Given the description of an element on the screen output the (x, y) to click on. 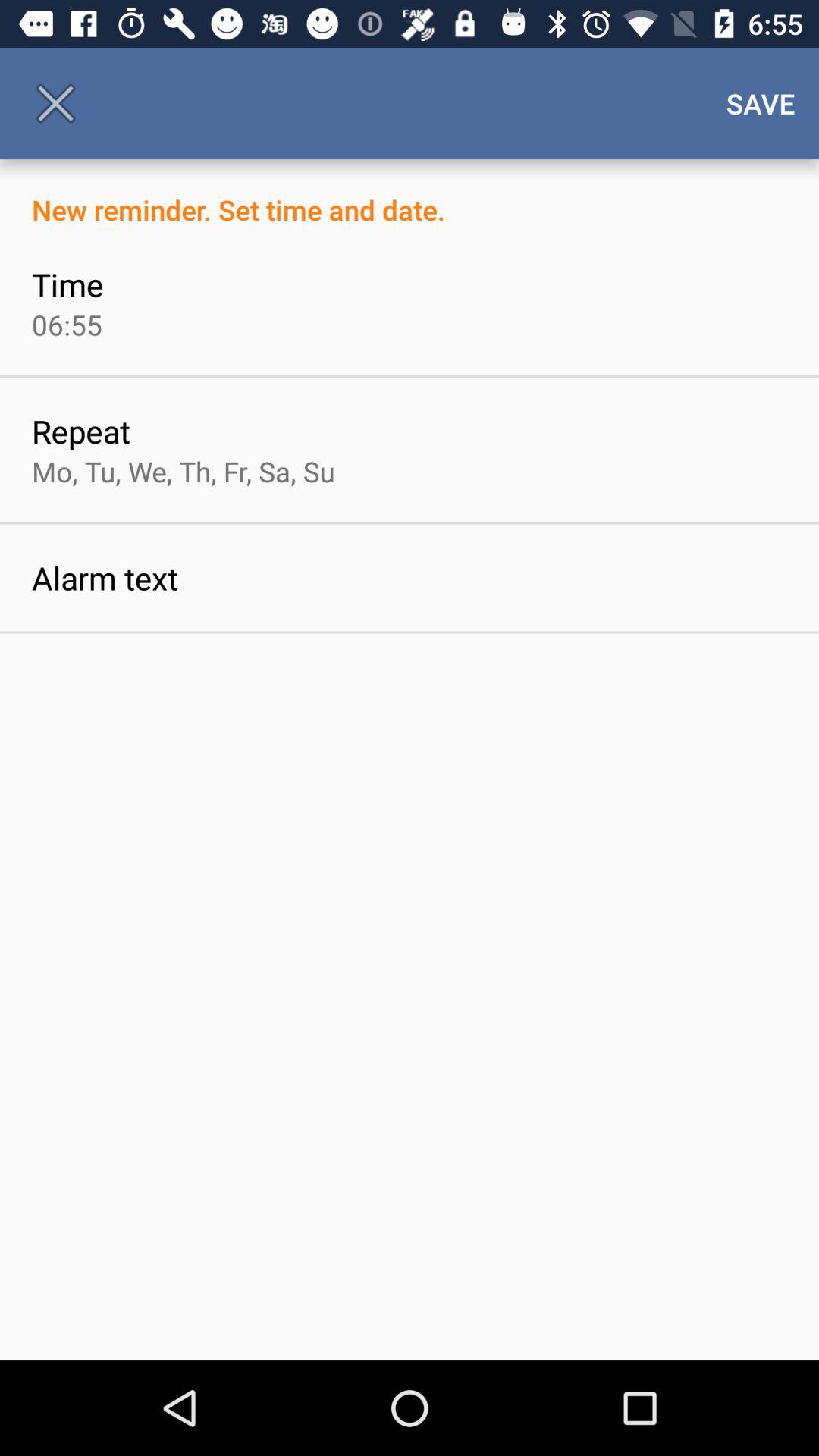
choose the icon below the repeat (182, 471)
